Given the description of an element on the screen output the (x, y) to click on. 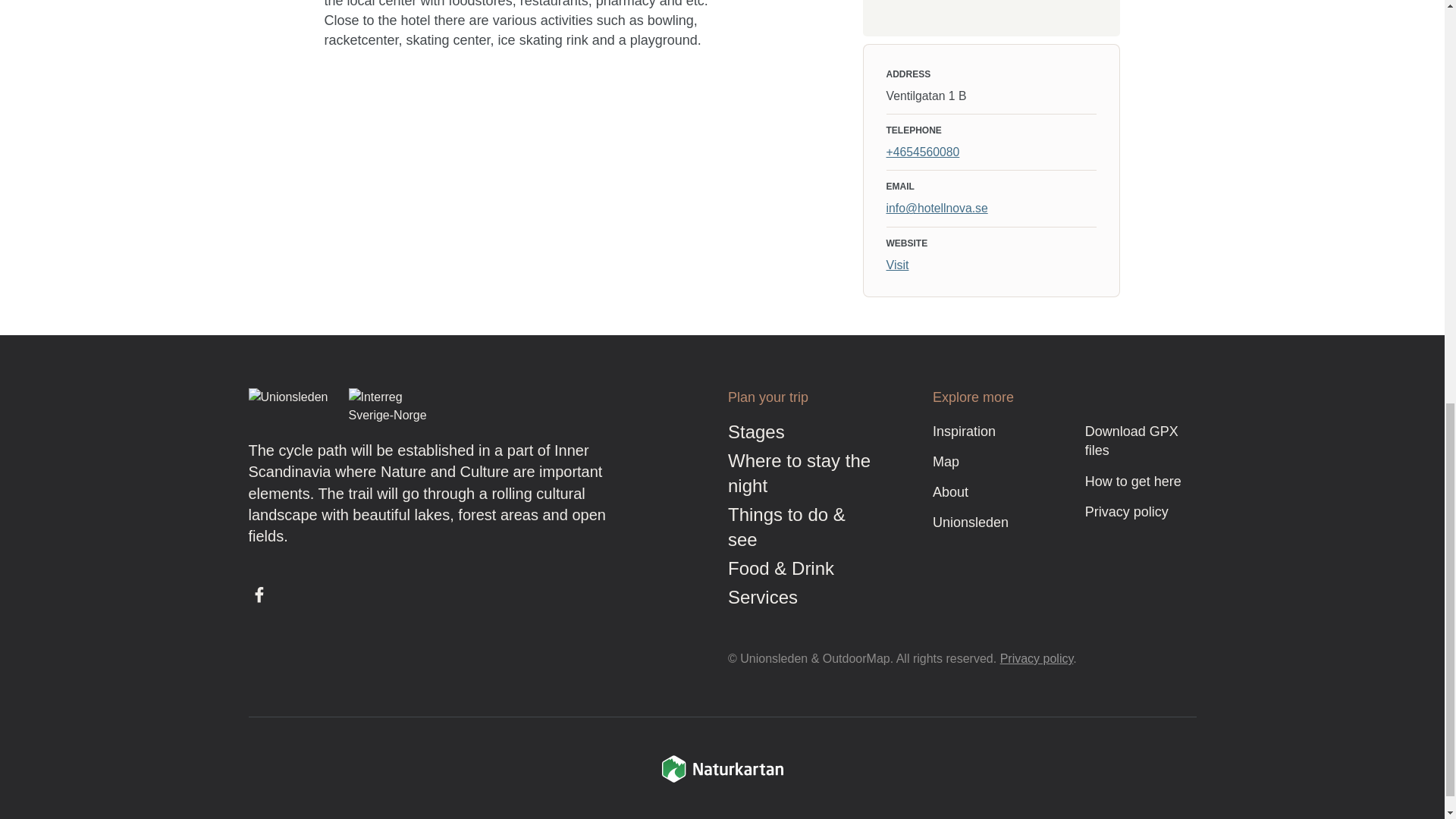
Stages (756, 431)
Where to stay the night (799, 473)
Services (762, 597)
Unionsleden (290, 406)
Map (946, 461)
Visit (896, 264)
Facebook (259, 594)
Interreg Sverige-Norge (391, 406)
Inspiration (964, 431)
Download GPX files (1130, 441)
